Given the description of an element on the screen output the (x, y) to click on. 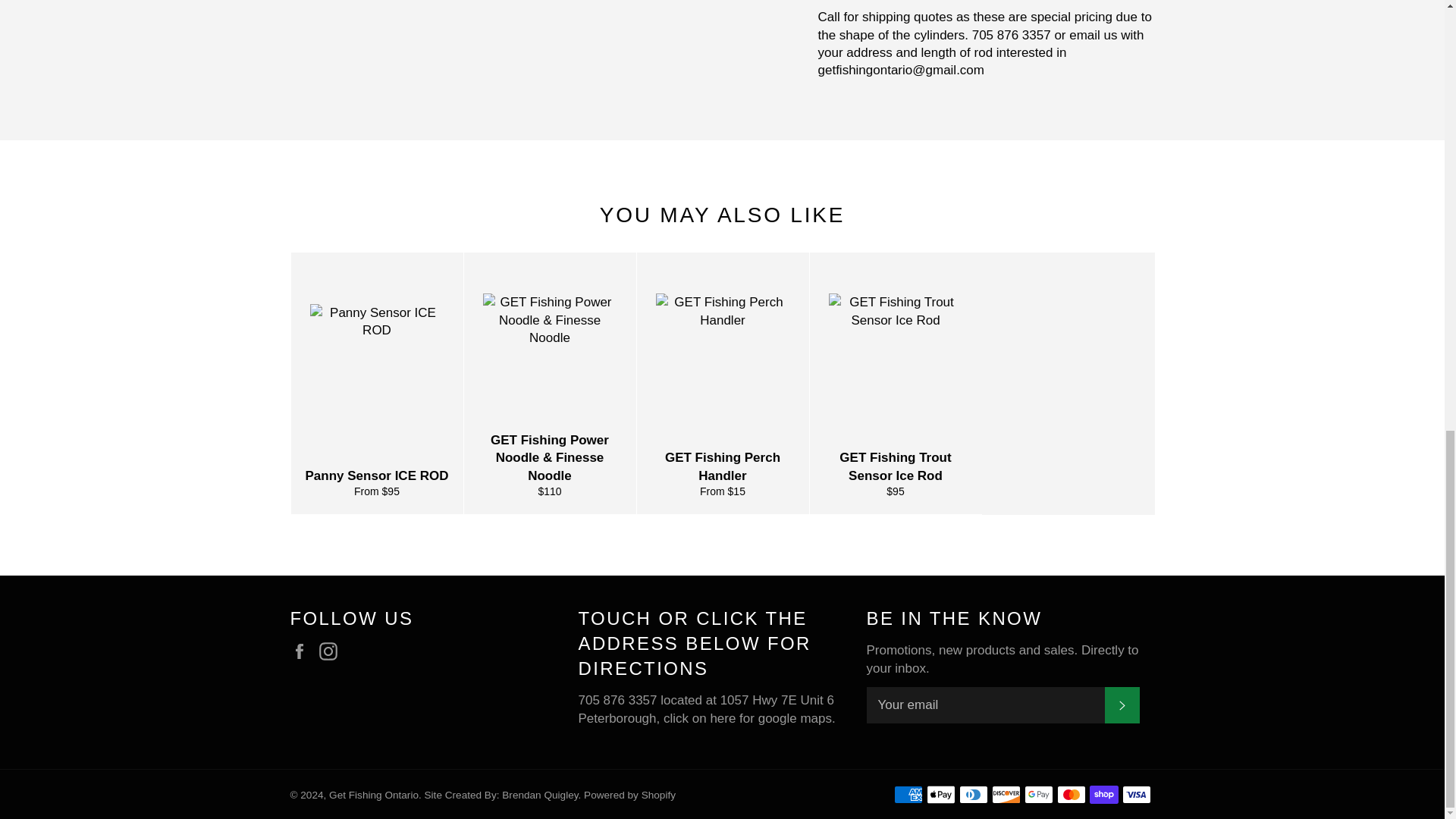
Get Fishing Ontario on Instagram (331, 650)
Get Fishing Ontario on Facebook (302, 650)
